Given the description of an element on the screen output the (x, y) to click on. 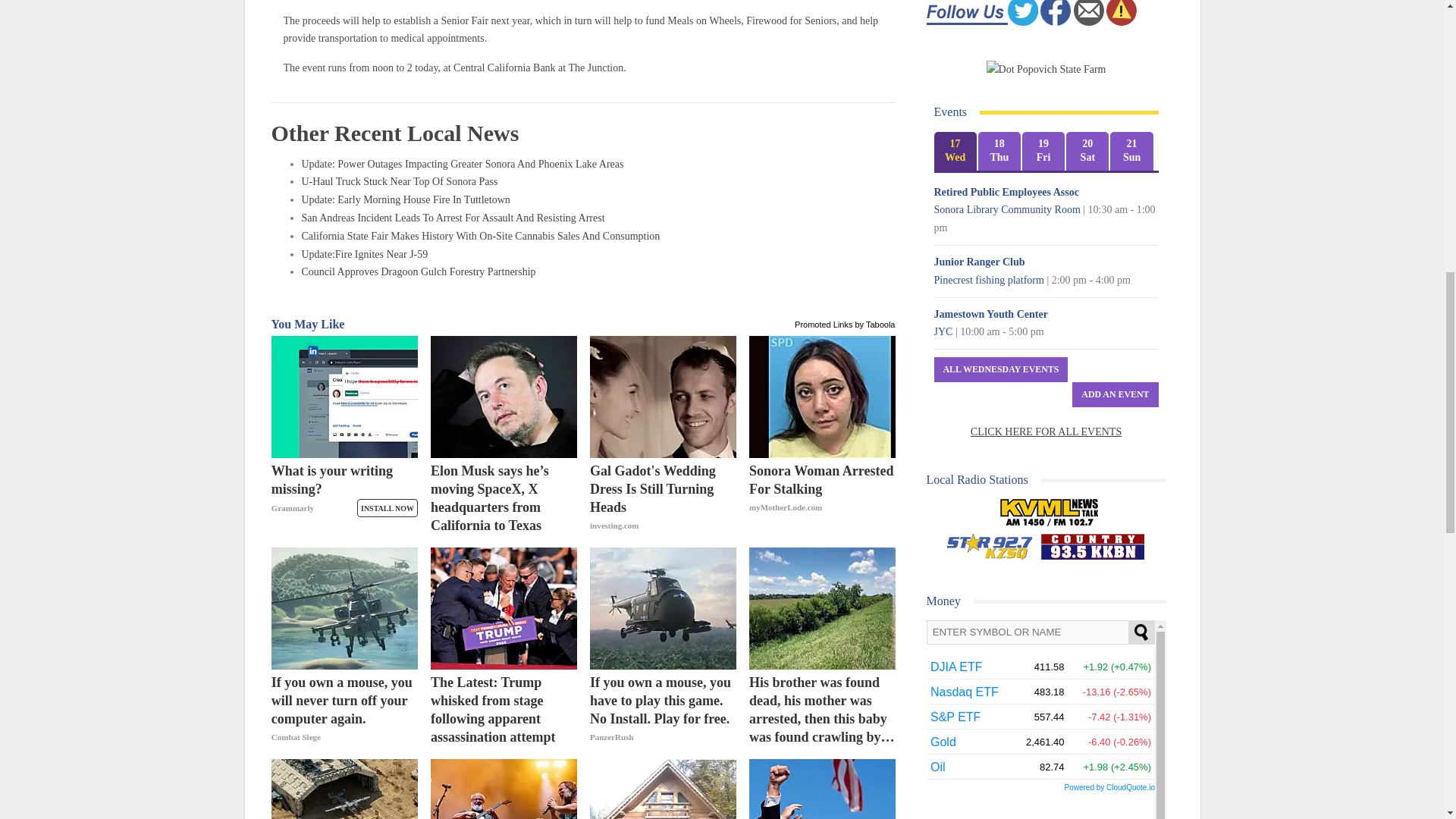
Gal Gadot's Wedding Dress Is Still Turning Heads (662, 497)
Sonora Woman Arrested For Stalking (822, 396)
What is your writing missing? (343, 497)
All Wednesday Events (1001, 369)
Sonora Woman Arrested For Stalking (822, 497)
Gal Gadot's Wedding Dress Is Still Turning Heads (662, 396)
What is your writing missing? (343, 396)
Add An Event (1114, 394)
